Given the description of an element on the screen output the (x, y) to click on. 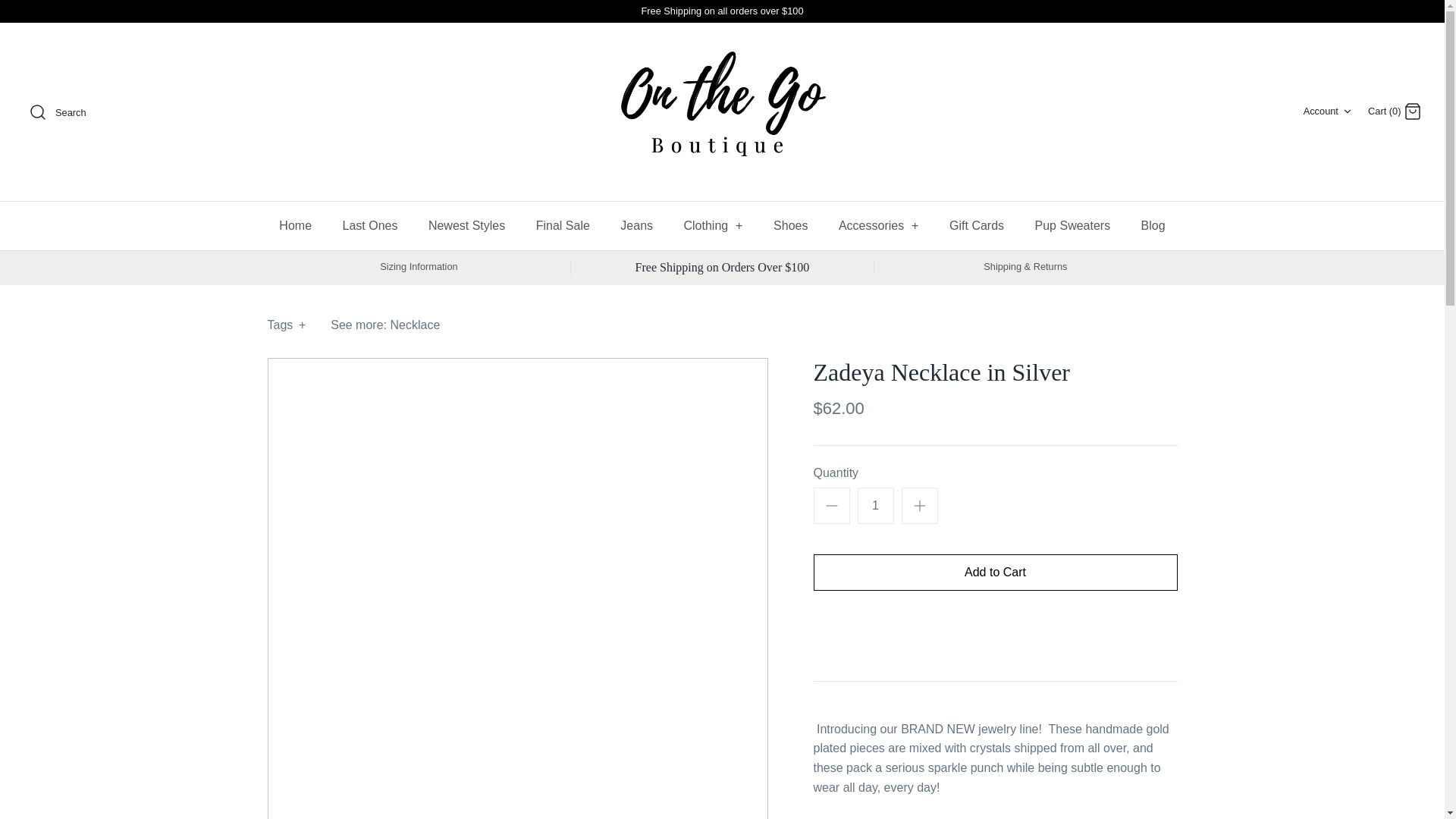
Plus (919, 505)
1 (875, 505)
Down (1347, 111)
Shoes (790, 225)
Pup Sweaters (1073, 225)
Minus (831, 505)
Cart (1412, 111)
Home (294, 225)
Last Ones (1329, 111)
